Given the description of an element on the screen output the (x, y) to click on. 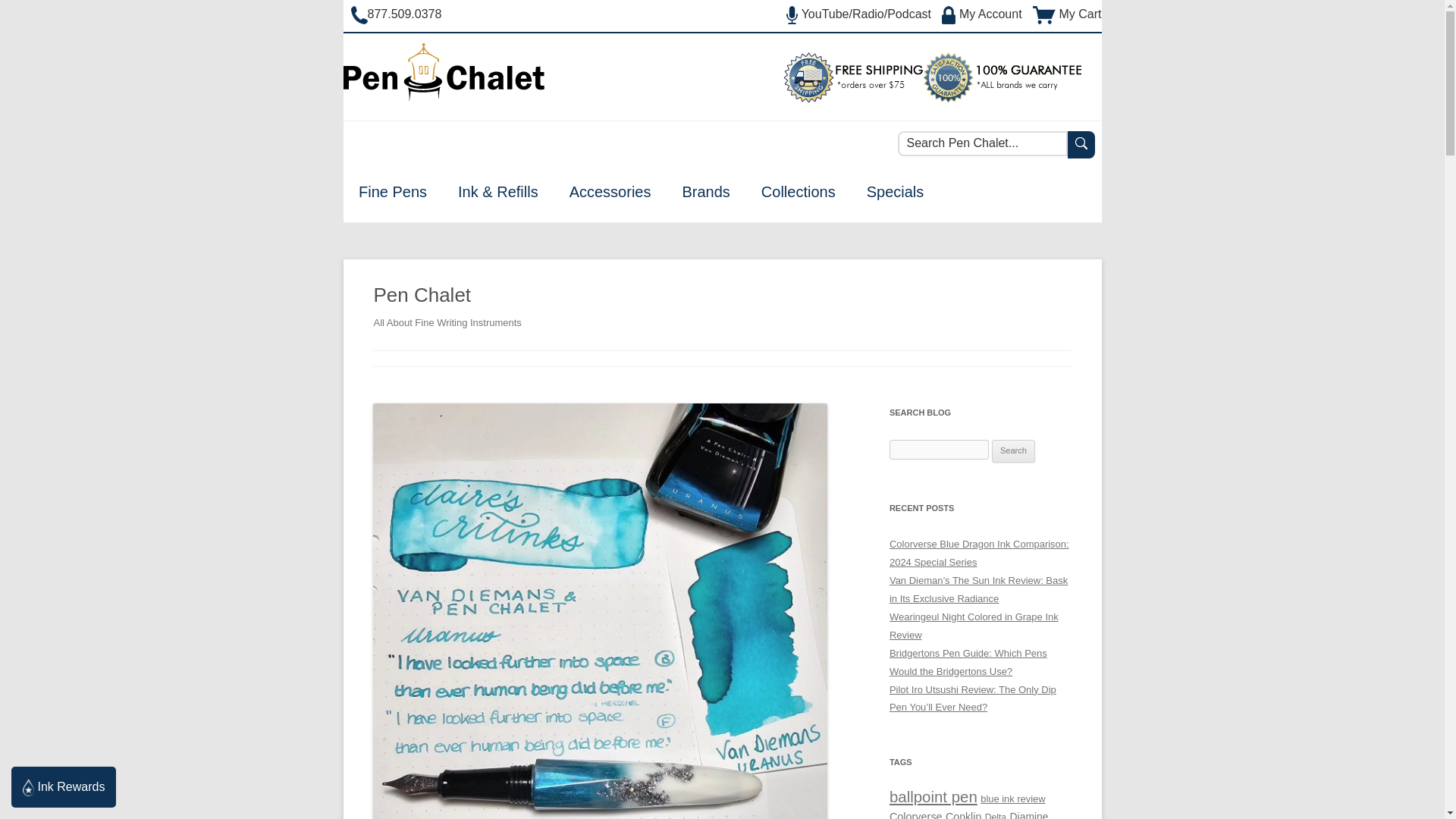
My Cart (1066, 13)
Search (1013, 450)
877.509.0378 (395, 13)
Accessories (609, 191)
Did you hear about us from YouTube Radio Podcast? (860, 13)
Shop Fine Pens (392, 191)
Toll Free Number (395, 13)
My Account (983, 13)
Free Shipping (852, 98)
Fine Pens (392, 191)
My Cart (1066, 13)
My Account (983, 13)
Pen Chalet Guarantee (1001, 98)
